Given the description of an element on the screen output the (x, y) to click on. 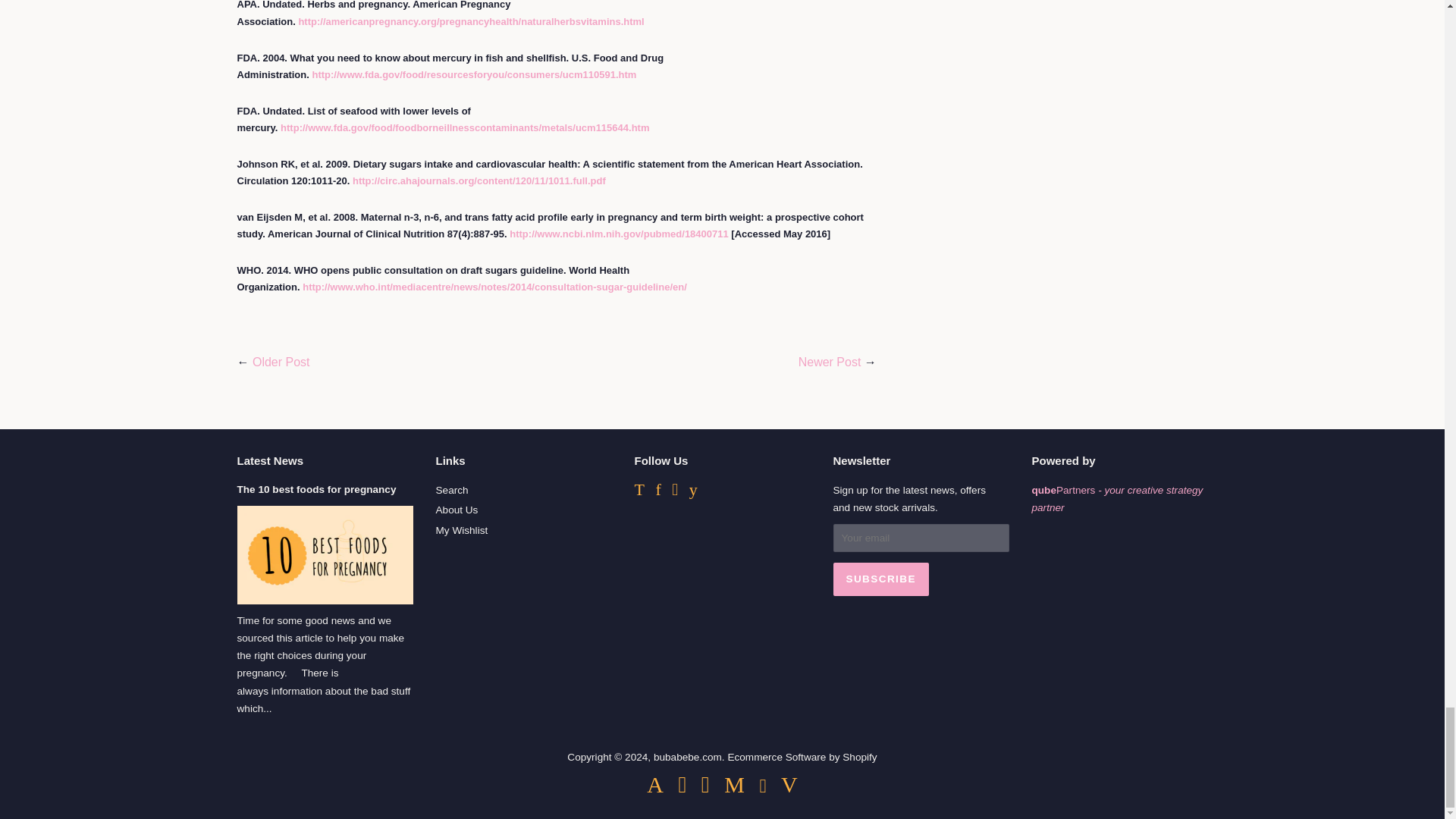
Subscribe (880, 579)
